Given the description of an element on the screen output the (x, y) to click on. 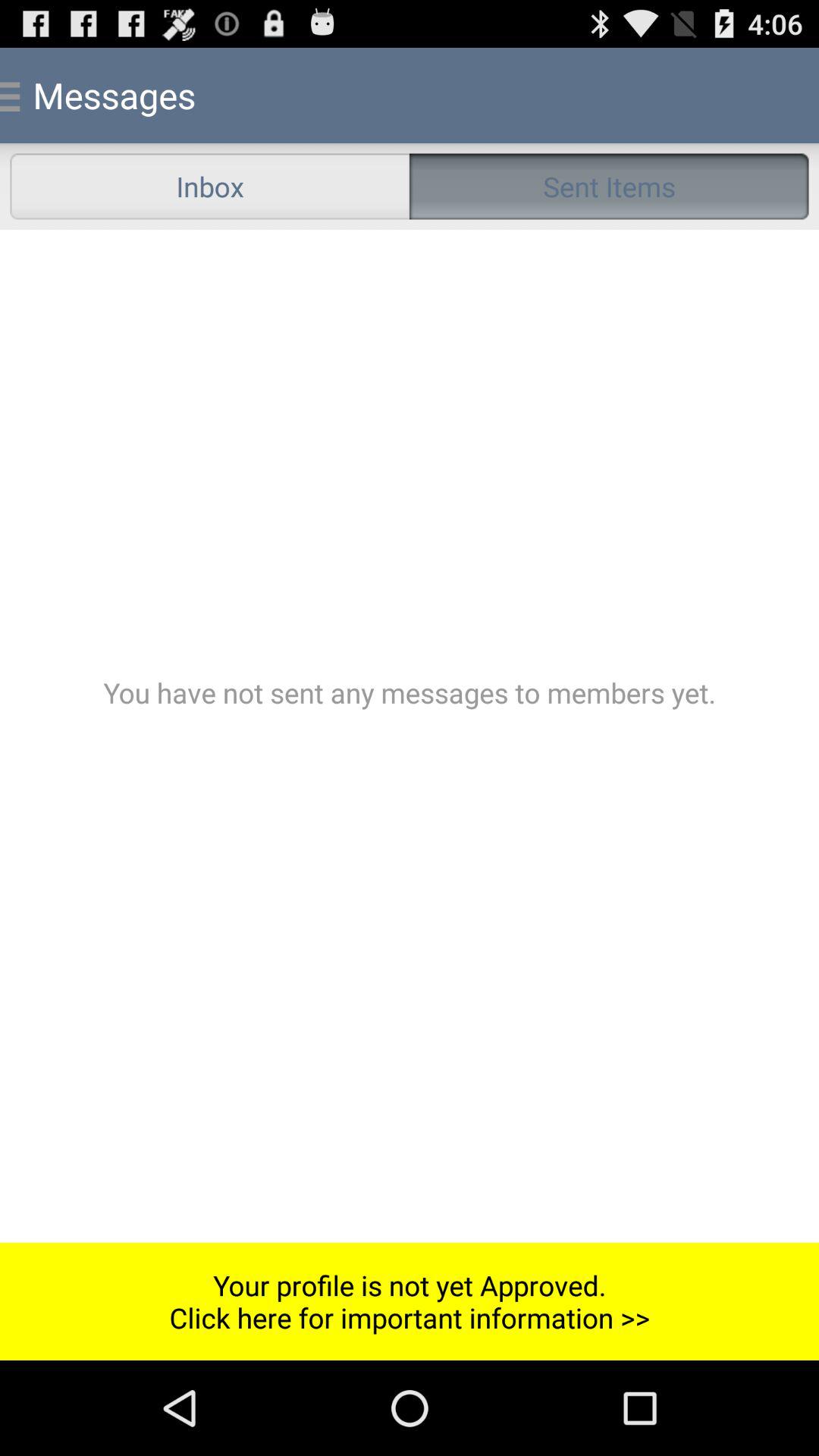
tap icon next to the sent items radio button (209, 186)
